Given the description of an element on the screen output the (x, y) to click on. 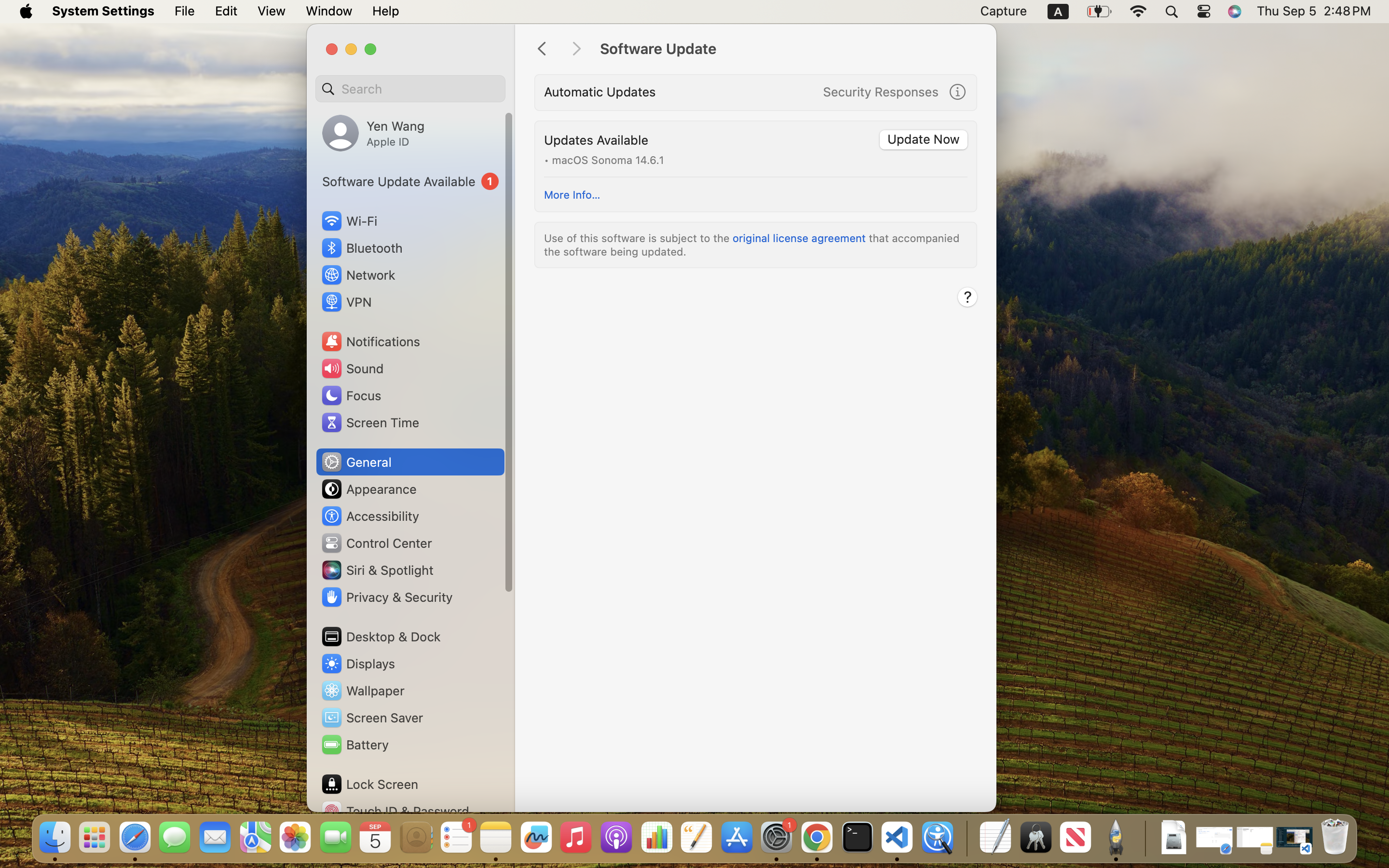
Displays Element type: AXStaticText (357, 663)
Network Element type: AXStaticText (357, 274)
Bluetooth Element type: AXStaticText (361, 247)
Battery Element type: AXStaticText (354, 744)
Desktop & Dock Element type: AXStaticText (380, 636)
